Given the description of an element on the screen output the (x, y) to click on. 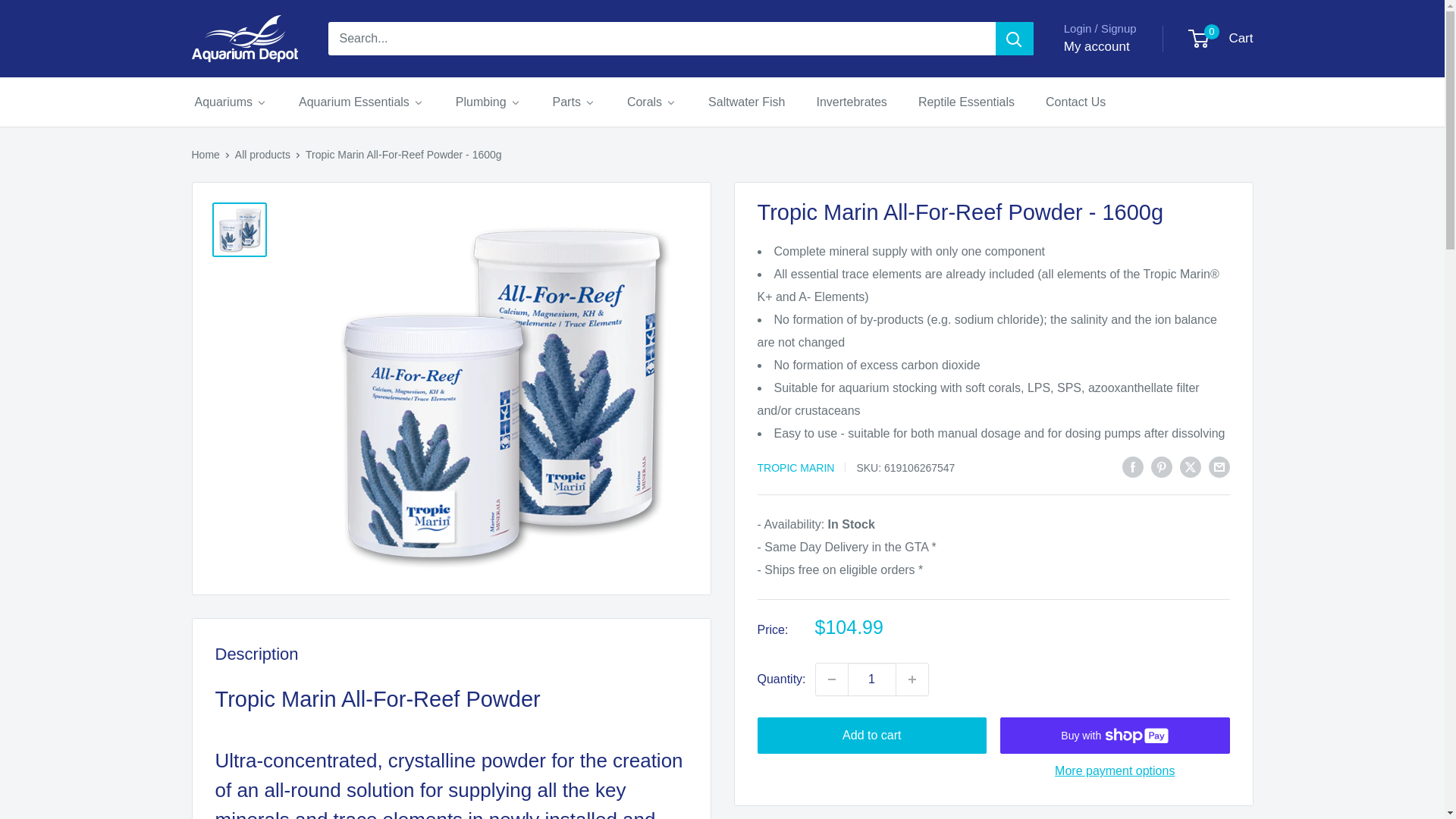
1 (871, 679)
